Given the description of an element on the screen output the (x, y) to click on. 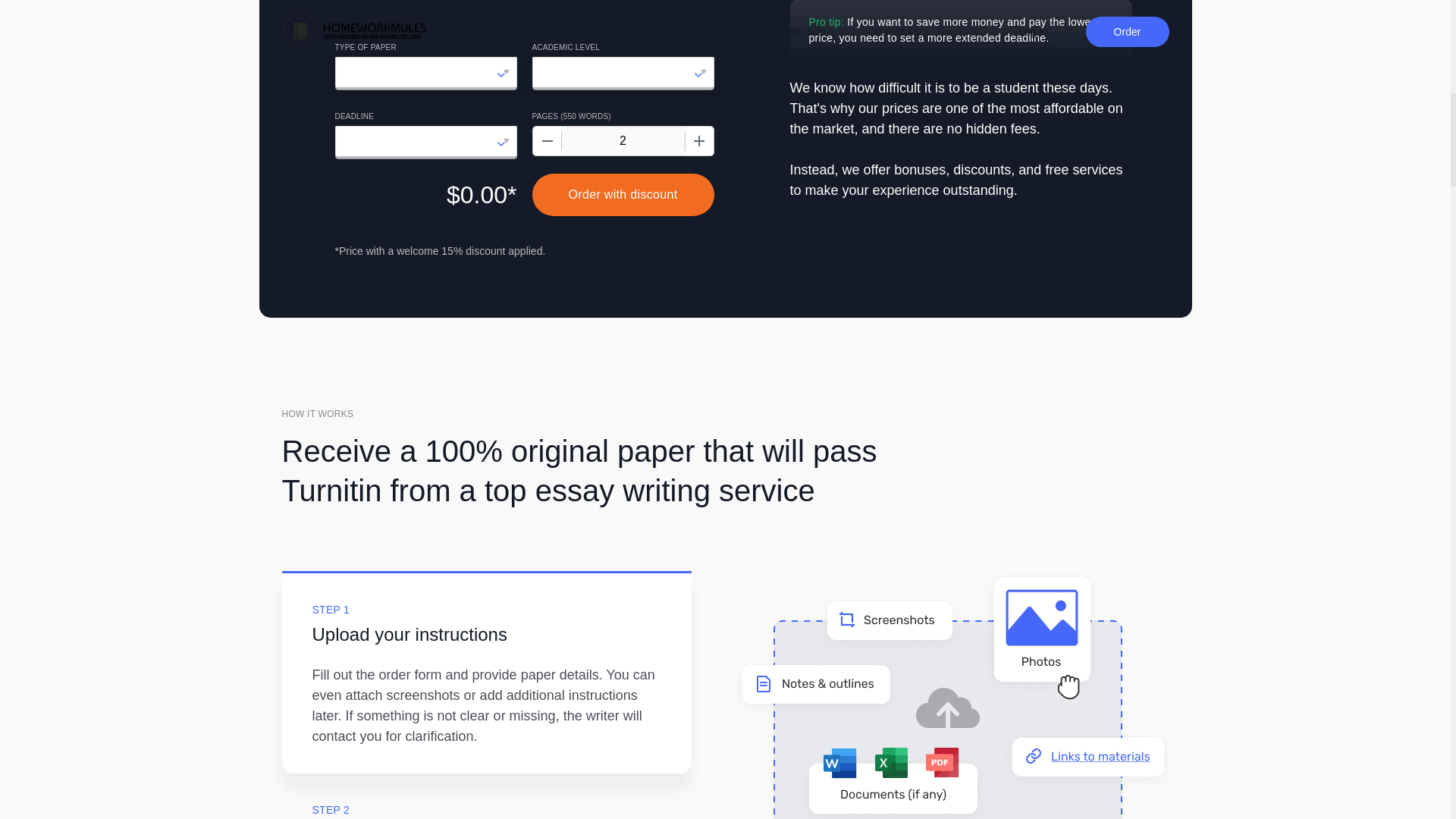
2 (622, 140)
Order with discount (623, 194)
Decrease (546, 140)
Increase (698, 140)
